Given the description of an element on the screen output the (x, y) to click on. 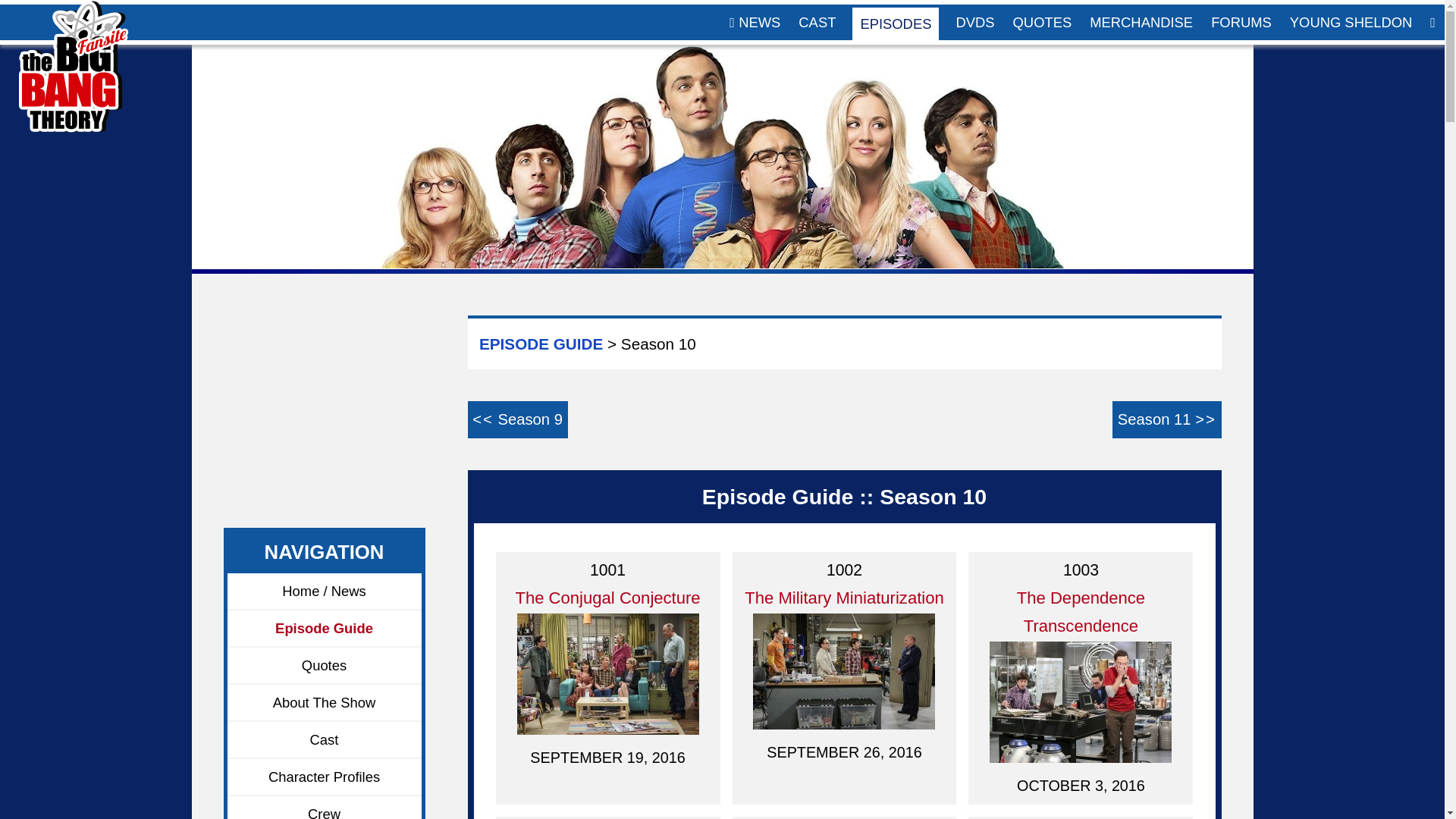
Character Profiles (324, 777)
QUOTES (1042, 22)
CAST (816, 22)
Episode Guide (324, 628)
NEWS (754, 22)
EPISODES (895, 23)
About The Show (324, 702)
MERCHANDISE (1141, 22)
Crew (324, 807)
Quotes (324, 665)
YOUNG SHELDON (1351, 22)
FORUMS (1241, 22)
Cast (324, 740)
DVDS (974, 22)
